Given the description of an element on the screen output the (x, y) to click on. 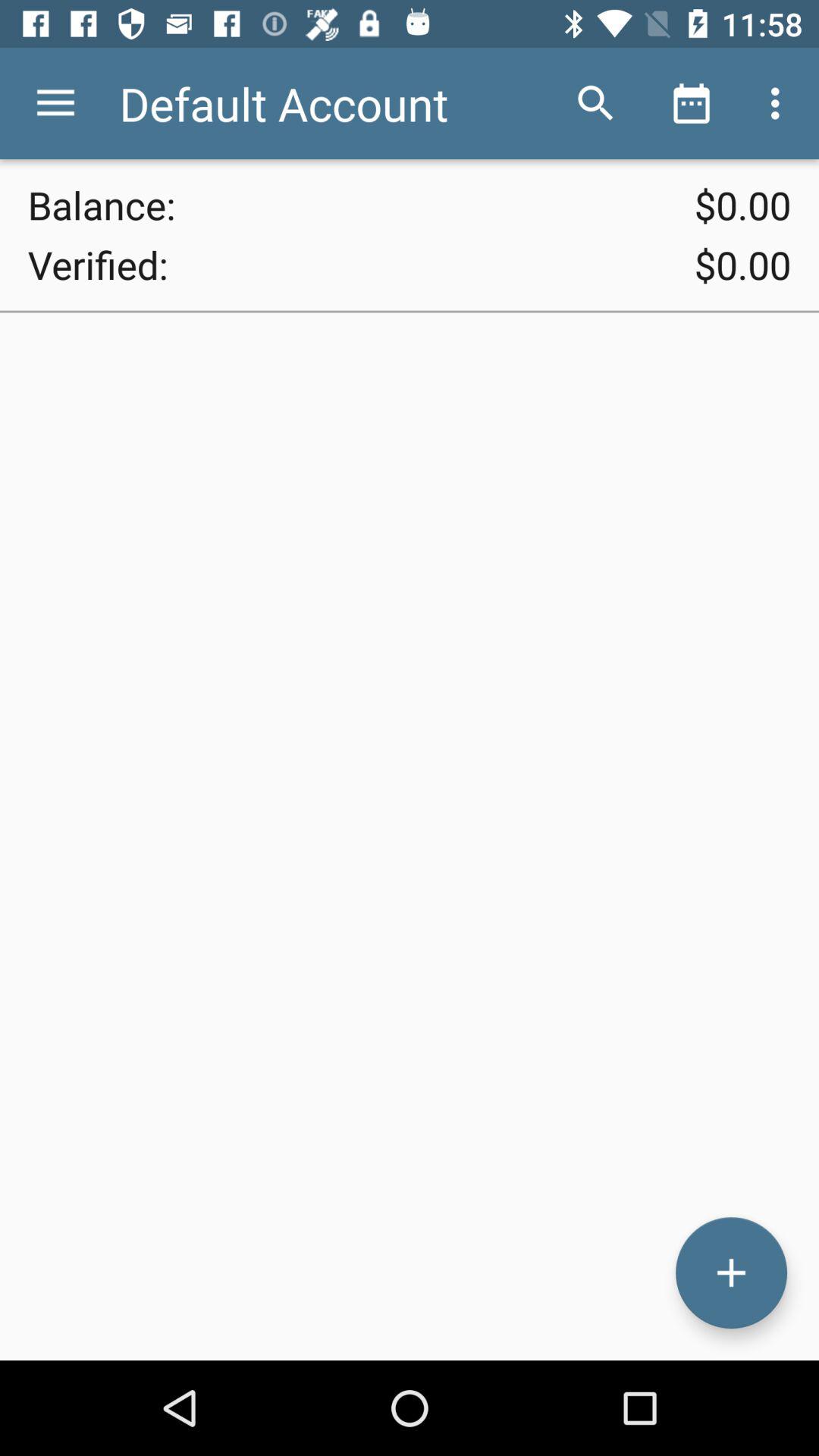
press icon above the balance: item (55, 103)
